Given the description of an element on the screen output the (x, y) to click on. 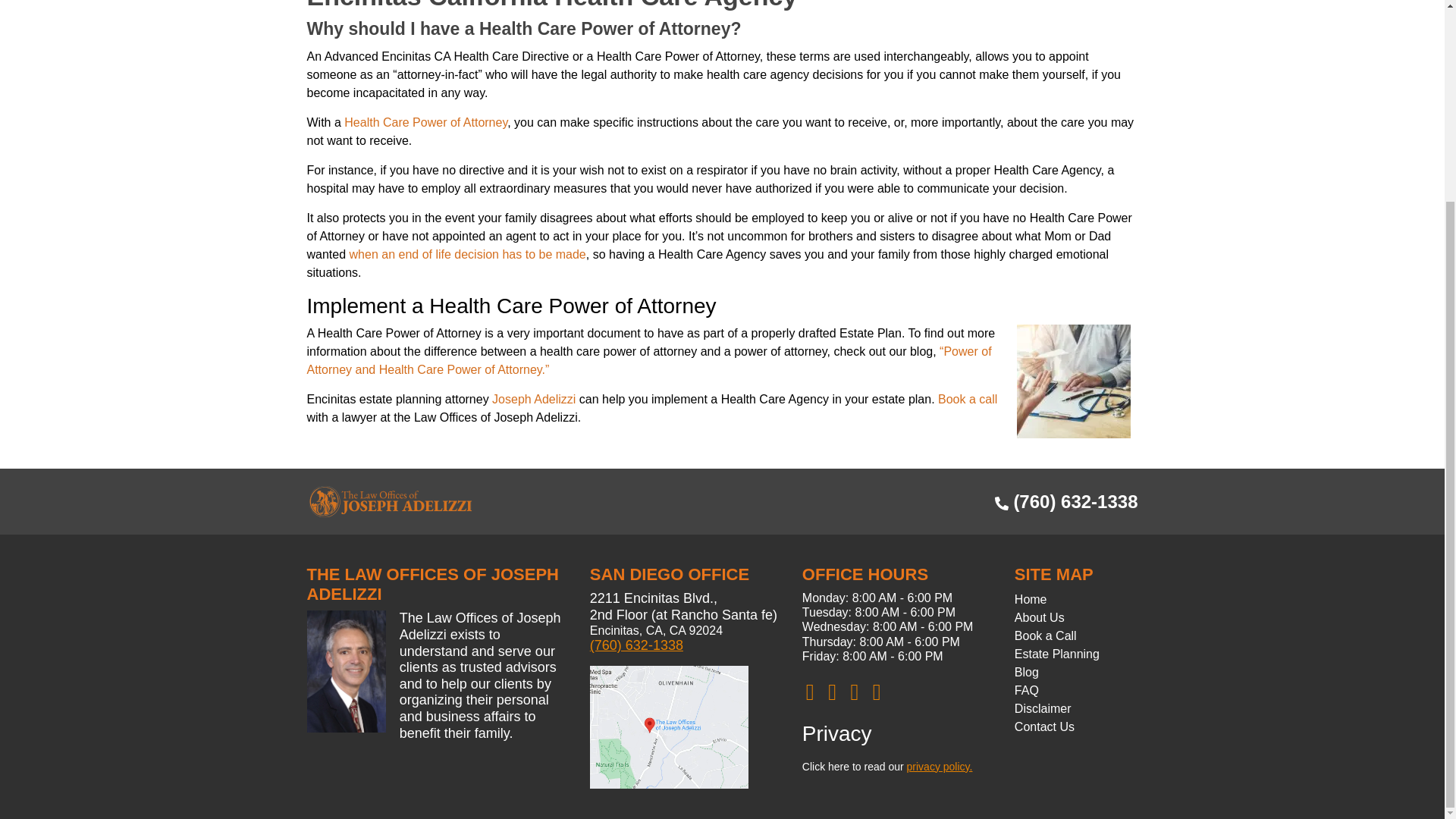
Privacy Page (939, 766)
Health Care Power of Attorney (424, 122)
Book a Call (1045, 635)
About Us (1039, 617)
Book a call (967, 399)
when an end of life decision has to be made (467, 254)
Joseph Adelizzi (533, 399)
Home (1030, 599)
Office Map (668, 726)
privacy policy. (939, 766)
The Law Offices of Joseph Adelizzi (389, 501)
